Given the description of an element on the screen output the (x, y) to click on. 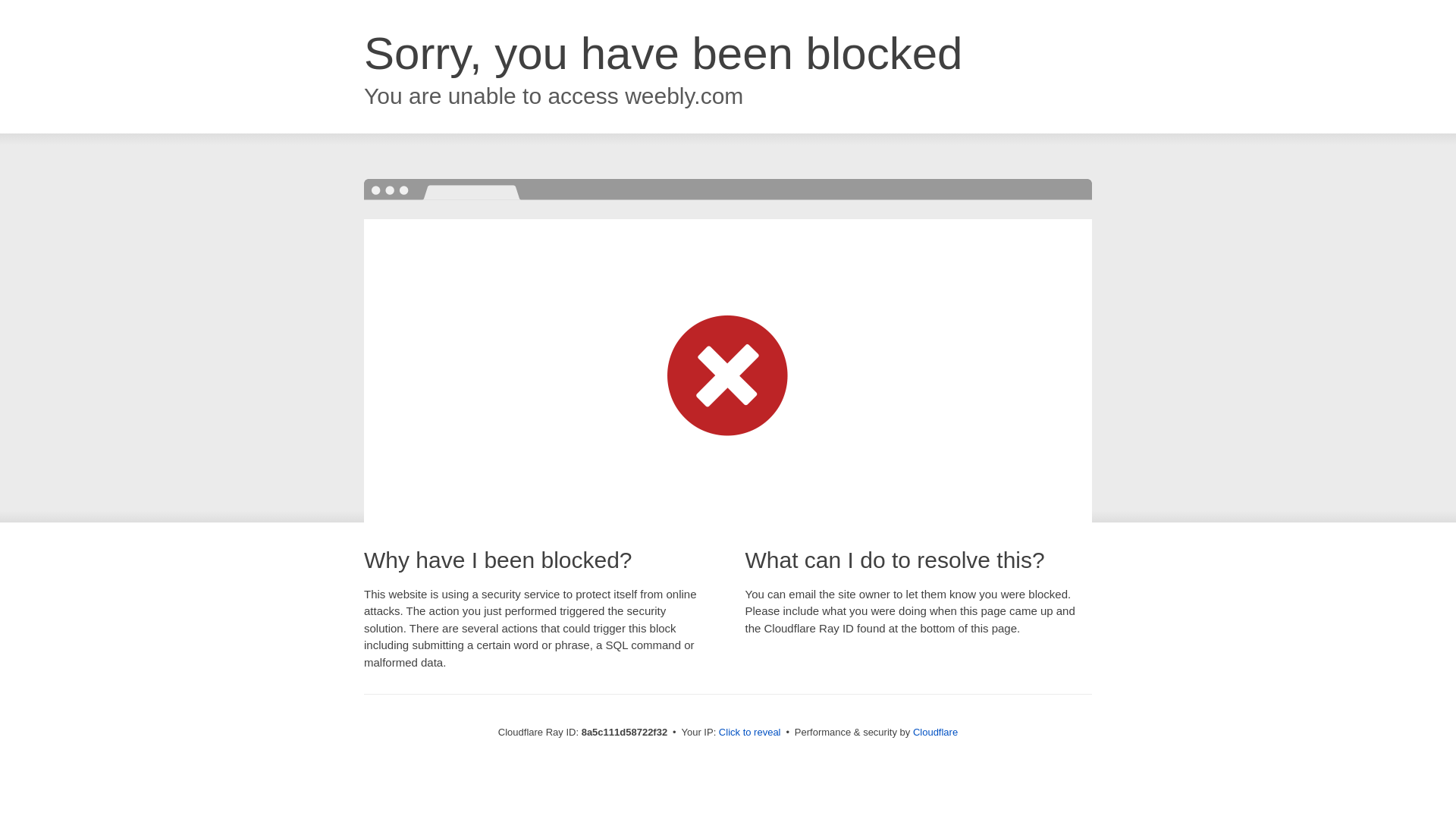
Click to reveal (749, 732)
Cloudflare (935, 731)
